Given the description of an element on the screen output the (x, y) to click on. 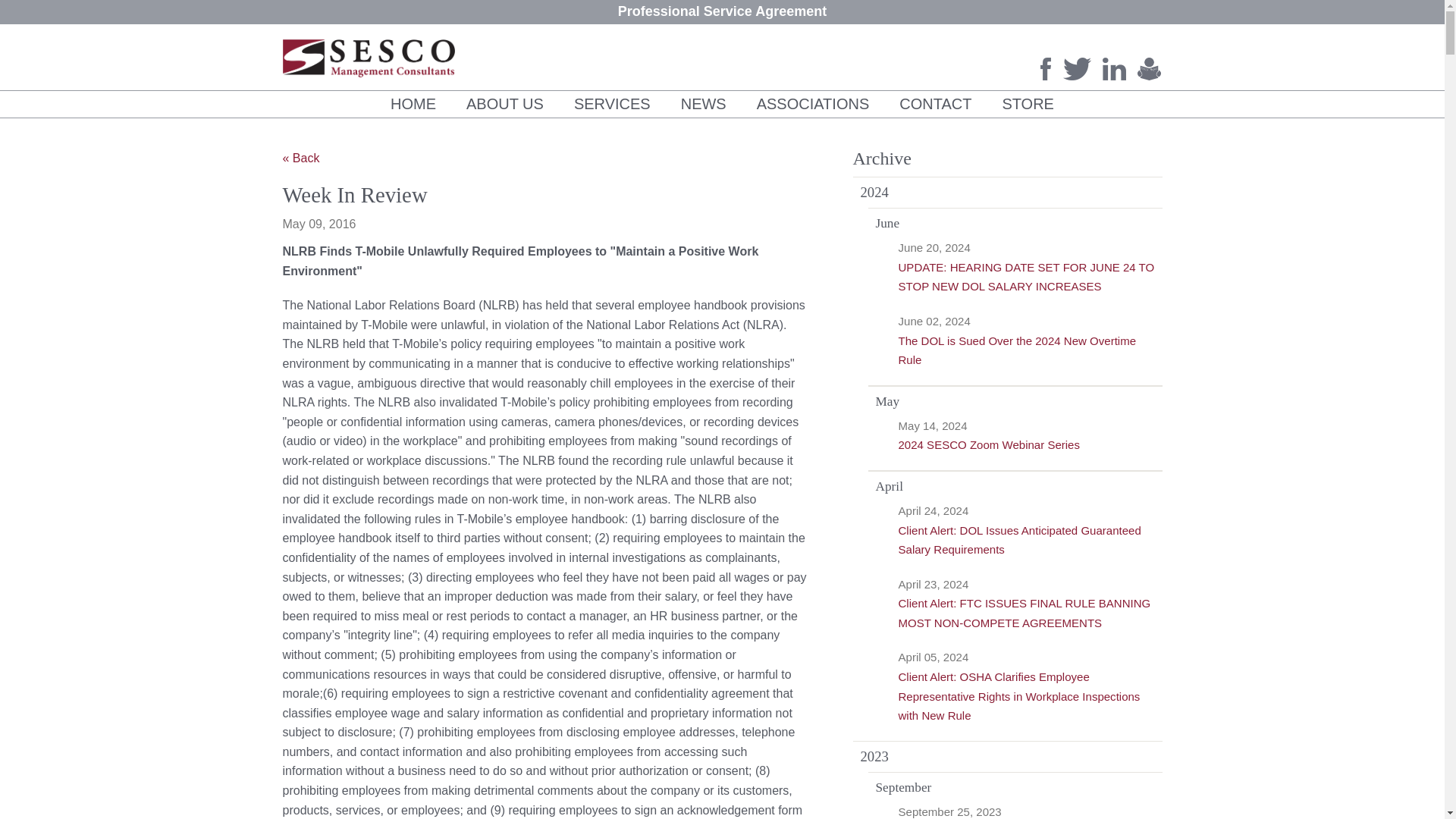
Twitter (1076, 68)
Professional Service Agreement (722, 11)
The DOL is Sued Over the 2024 New Overtime Rule (1016, 350)
STORE (1027, 103)
ASSOCIATIONS (813, 103)
HOME (413, 103)
NEWS (703, 103)
SESCO Report (1149, 68)
2024 SESCO Zoom Webinar Series (989, 444)
ABOUT US (505, 103)
